Given the description of an element on the screen output the (x, y) to click on. 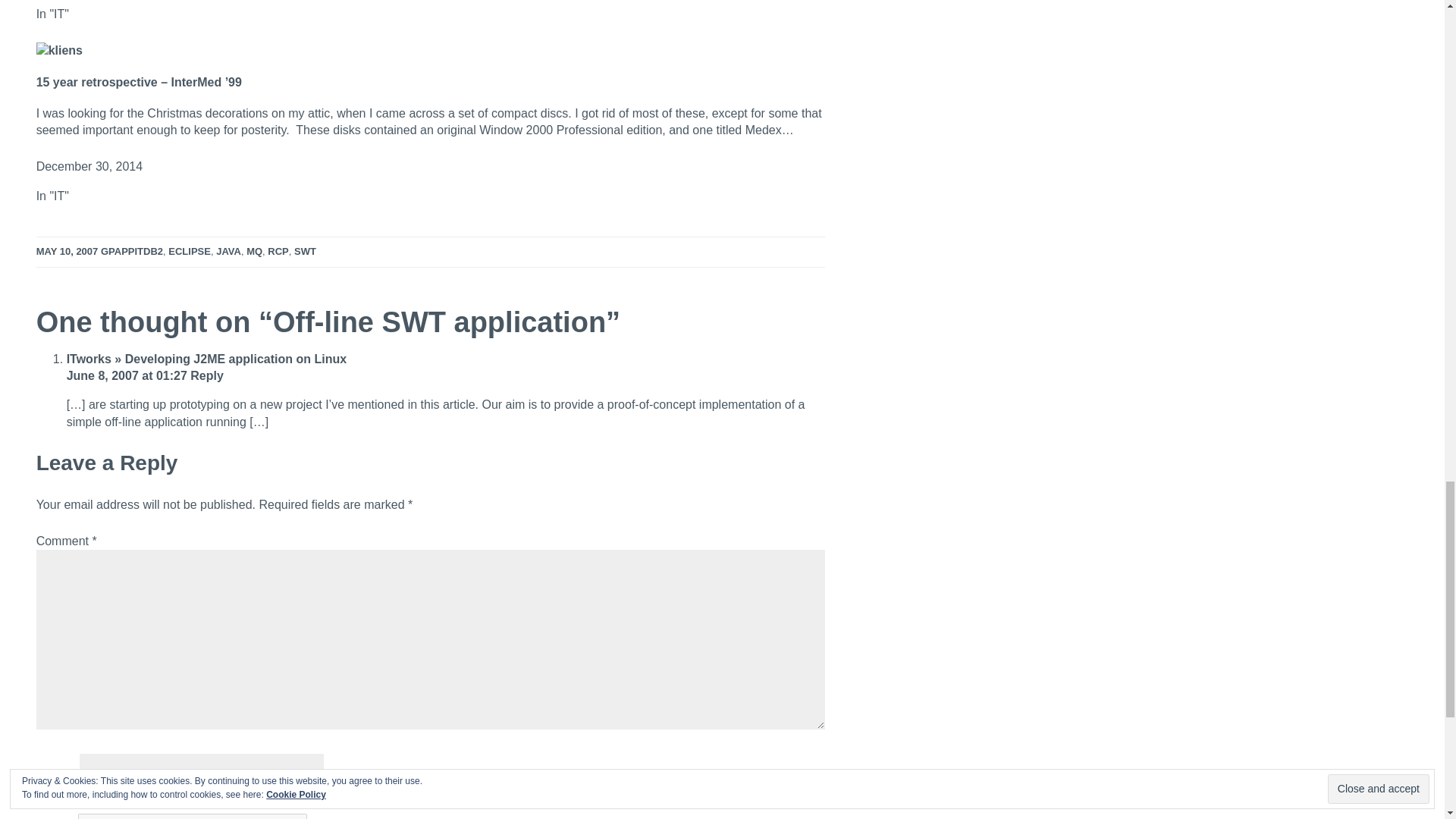
MAY 10, 2007 (67, 251)
GPAPP (117, 251)
DB2 (152, 251)
ECLIPSE (189, 251)
JAVA (228, 251)
